Given the description of an element on the screen output the (x, y) to click on. 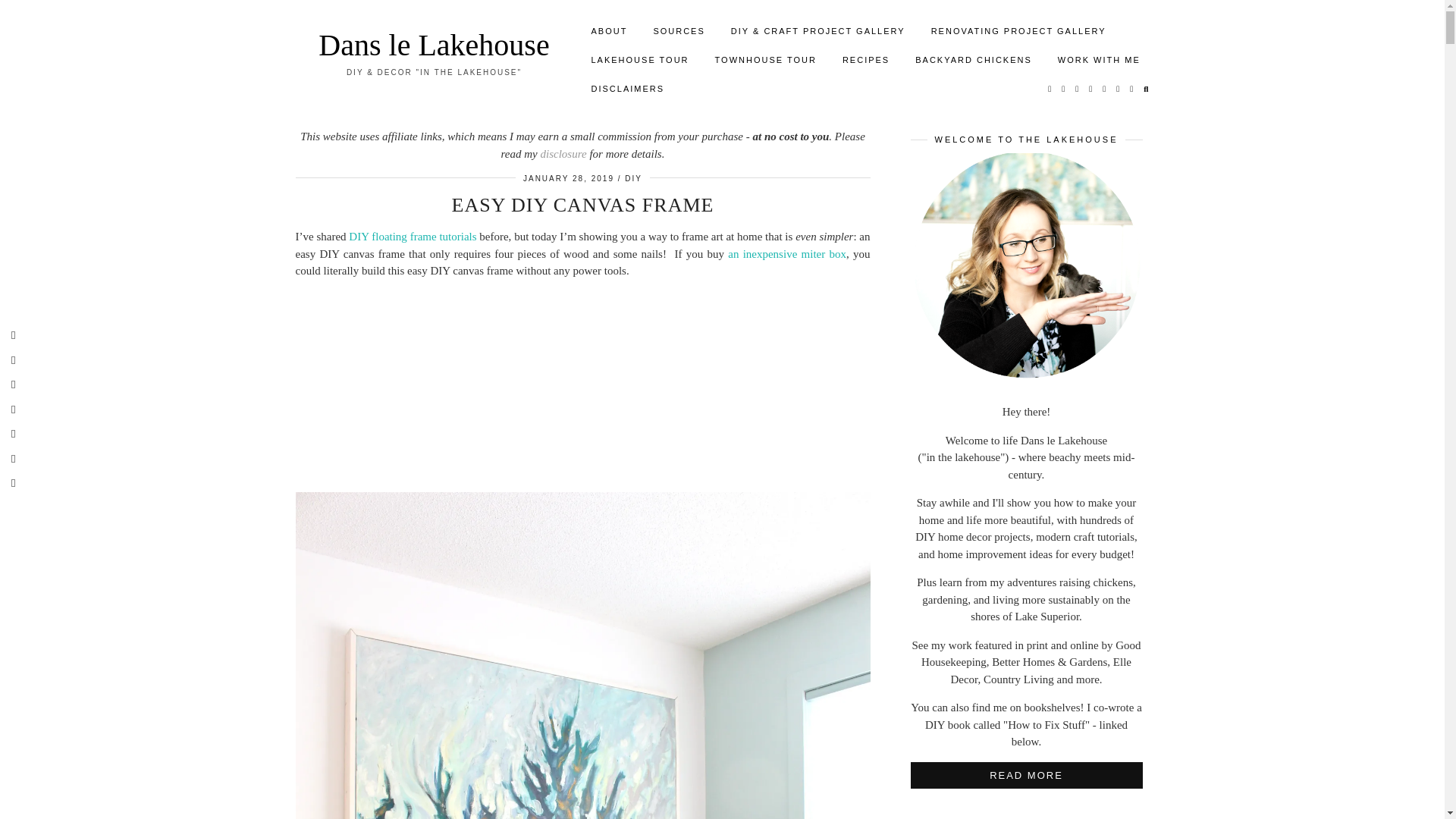
Dans le Lakehouse (433, 44)
Twitter (1050, 88)
Instagram (1063, 88)
ABOUT (609, 30)
Dans le Lakehouse (433, 44)
